Given the description of an element on the screen output the (x, y) to click on. 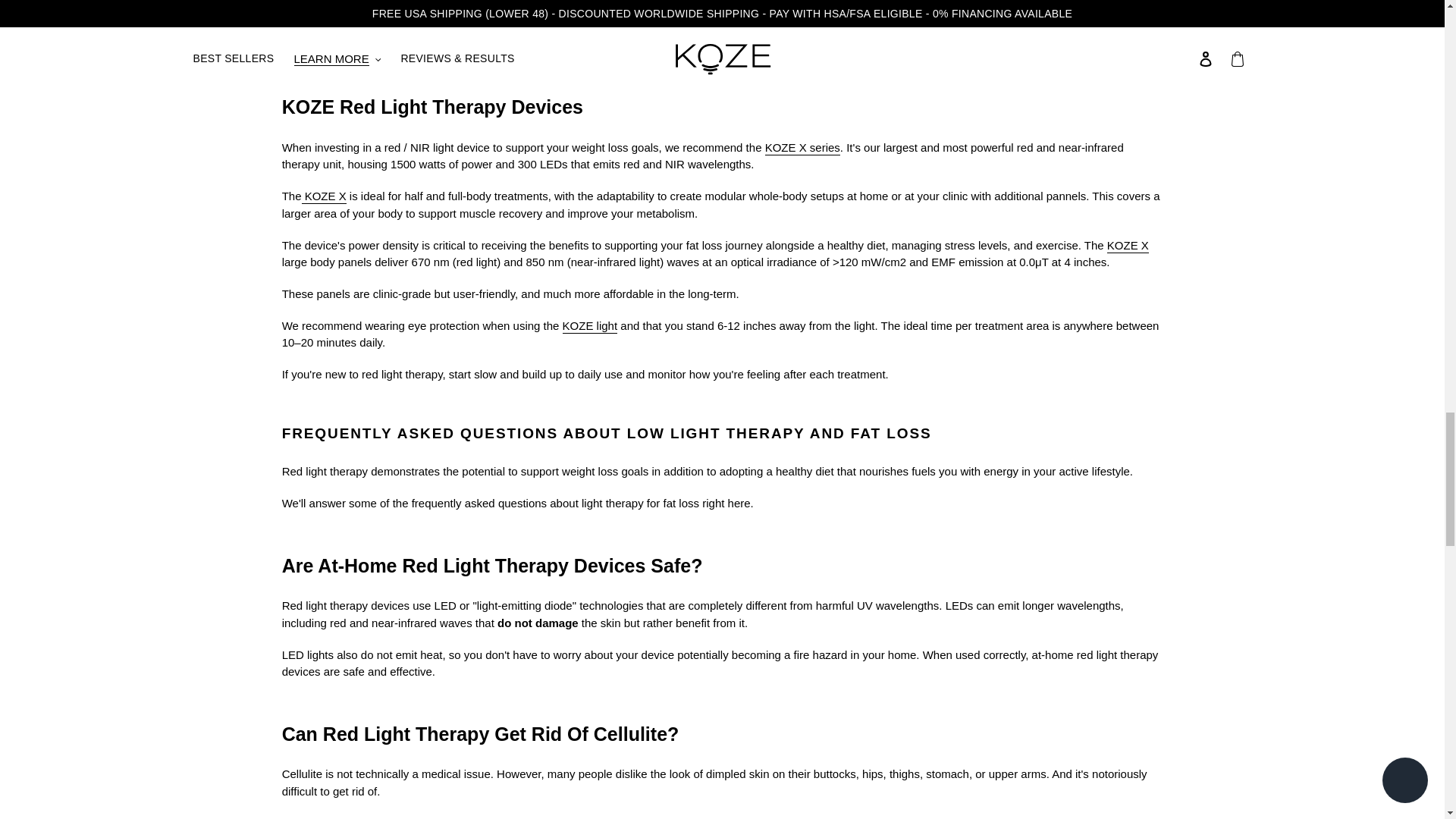
KOZE X series (802, 147)
KOZE X (323, 196)
KOZE light (589, 326)
KOZE X (1127, 246)
